Given the description of an element on the screen output the (x, y) to click on. 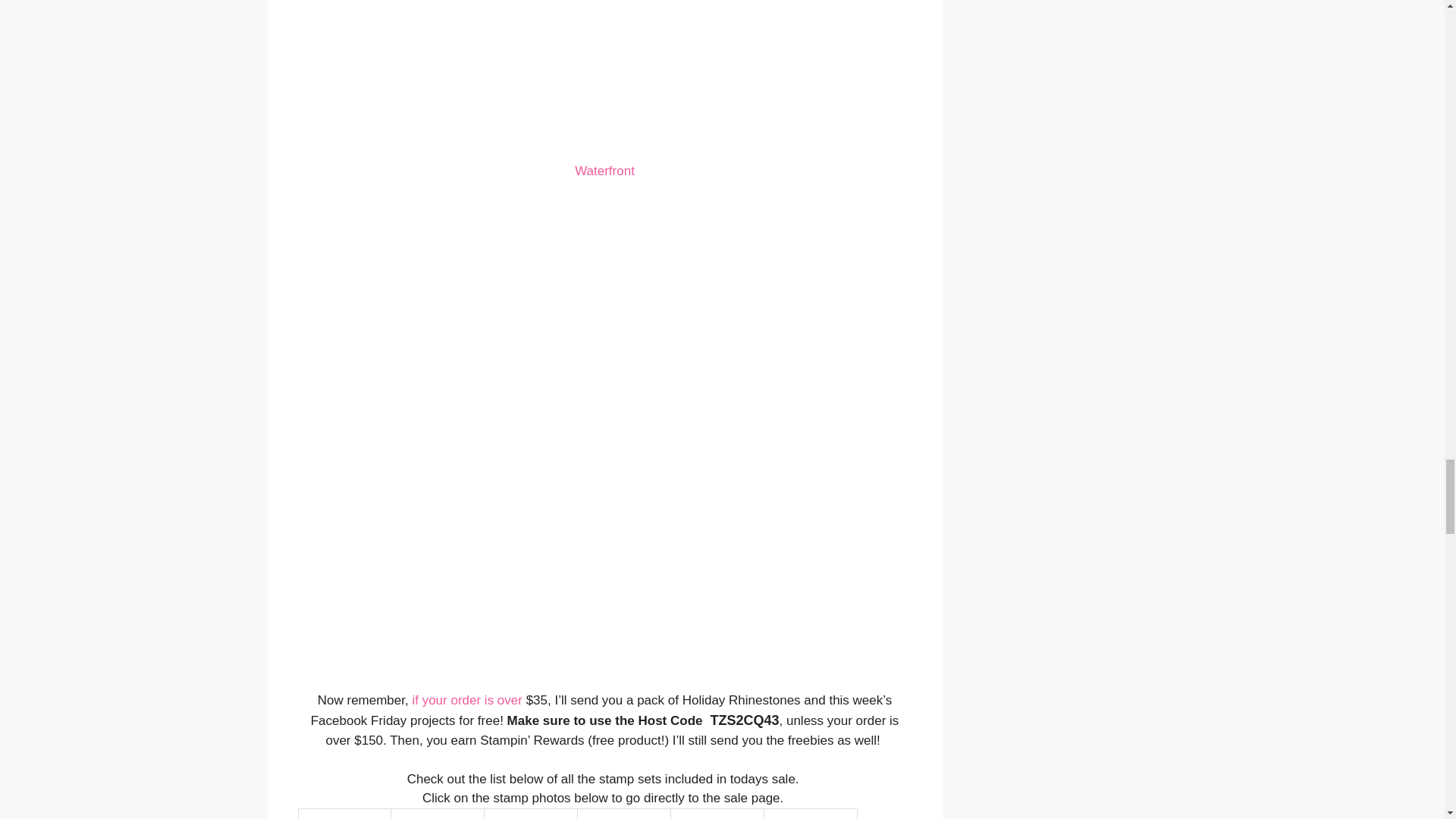
Making Christmas Bright Photopolymer Stamp Set (530, 816)
Lots Of Cheer Cling Stamp Set (437, 816)
Merry Christmas To All Photopolymer Stamp Set (344, 816)
Waterfront (604, 170)
